Given the description of an element on the screen output the (x, y) to click on. 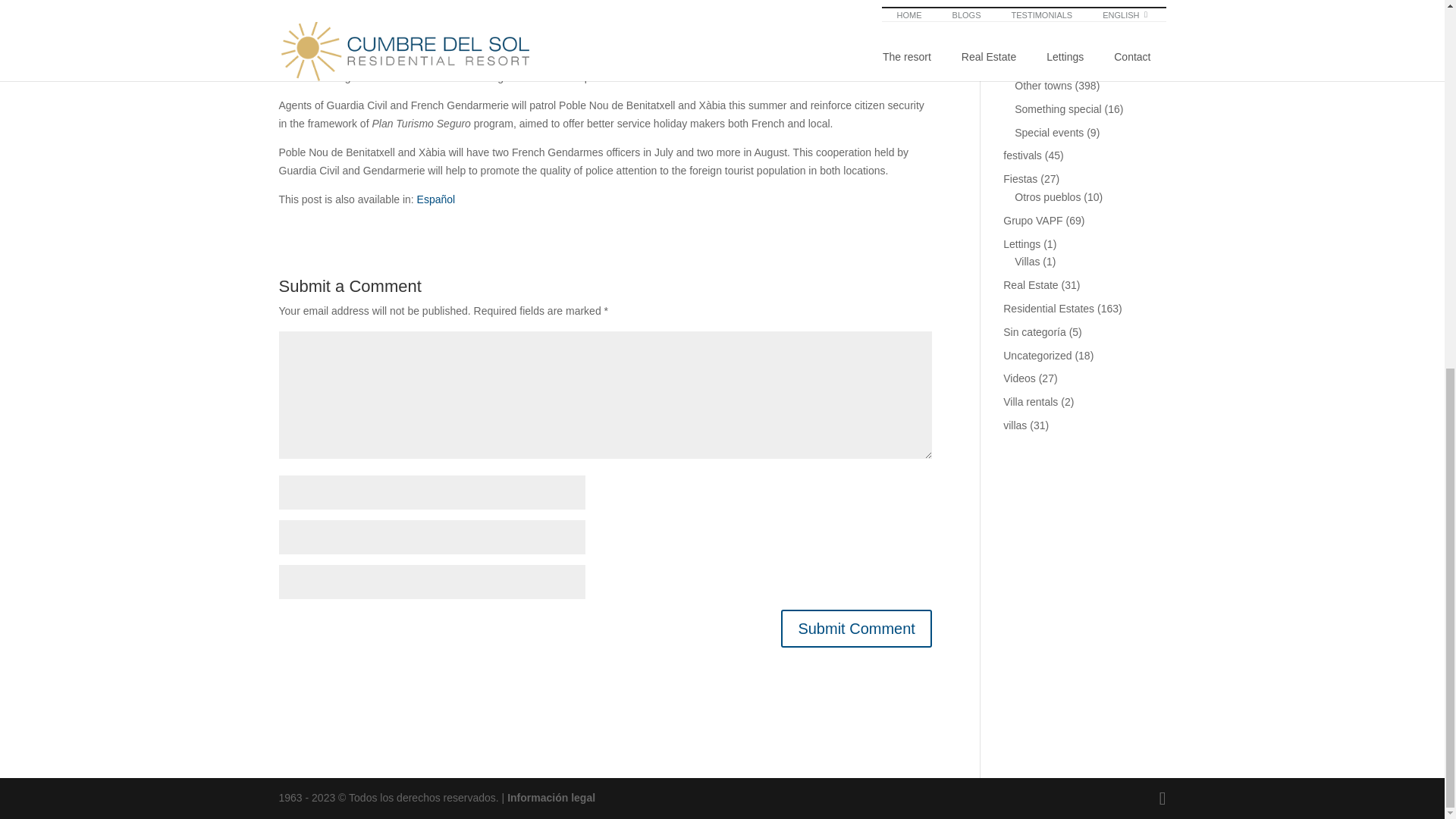
Events (1019, 21)
Special events (1048, 132)
Other towns (1042, 85)
Fiestas (1019, 178)
Otros pueblos (1047, 196)
Submit Comment (855, 628)
Something special (1057, 109)
Submit Comment (855, 628)
festivals (1022, 155)
Grupo VAPF (1032, 220)
Local events (1044, 61)
County (1031, 38)
